Given the description of an element on the screen output the (x, y) to click on. 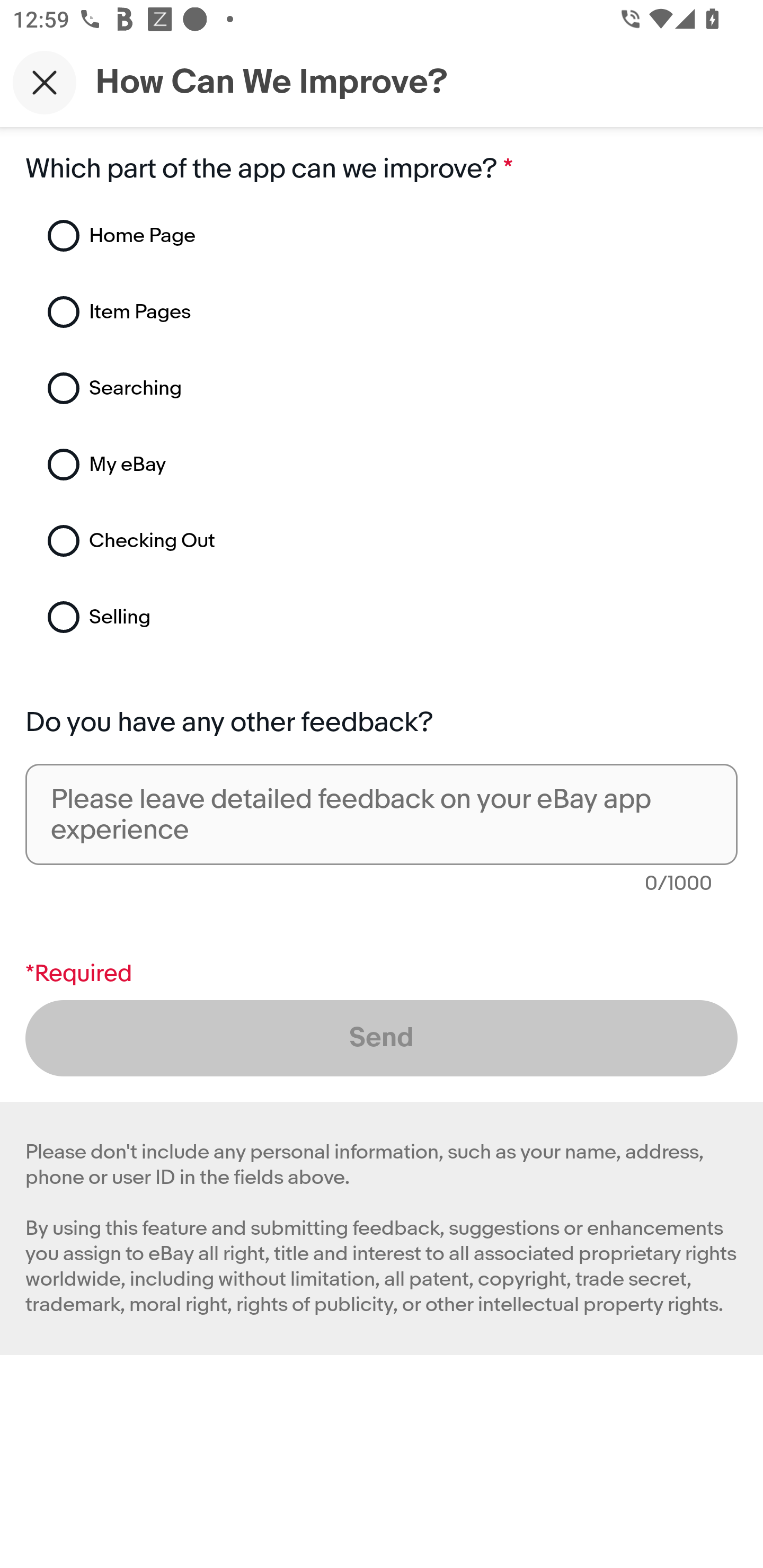
Close (44, 82)
Home Page (269, 235)
Item Pages (269, 311)
Searching (269, 387)
My eBay (269, 464)
Checking Out (269, 540)
Selling (269, 616)
Send (381, 1037)
